Given the description of an element on the screen output the (x, y) to click on. 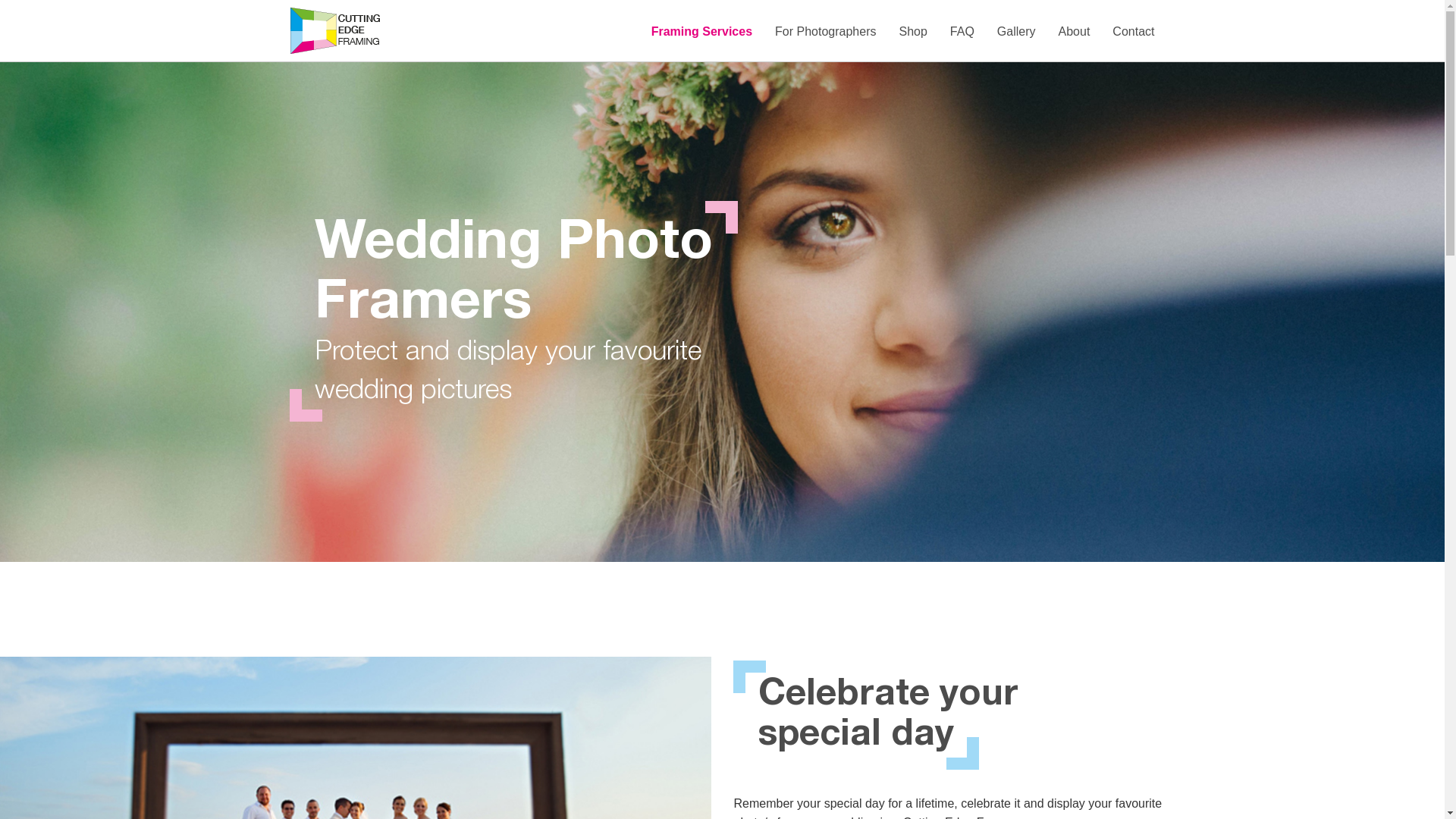
Cutting Edge Picture Framing Element type: hover (335, 30)
Shop Element type: text (912, 31)
FAQ Element type: text (961, 31)
About Element type: text (1074, 31)
Contact Element type: text (1133, 31)
For Photographers Element type: text (825, 31)
Gallery Element type: text (1016, 31)
Framing Services Element type: text (701, 31)
